Given the description of an element on the screen output the (x, y) to click on. 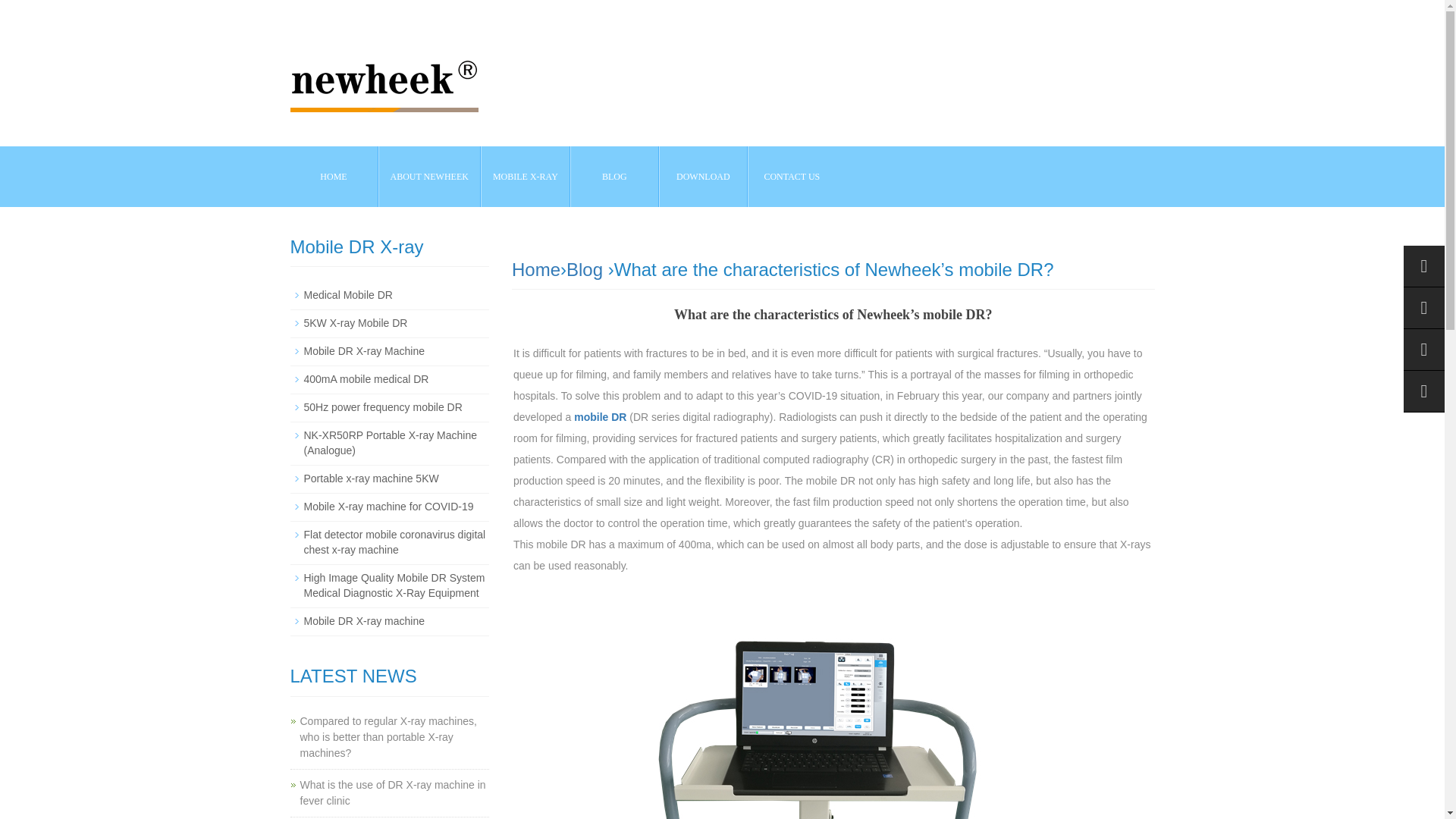
HOME (333, 176)
Portable x-ray machine 5KW (370, 478)
What is the use of DR X-ray machine in fever clinic (392, 792)
Back to Home page (536, 269)
Mobile DR X-ray Machine (363, 350)
Medical Mobile DR (346, 295)
5KW X-ray Mobile DR (354, 322)
mobile DR (600, 417)
DOWNLOAD (702, 176)
BLOG (614, 176)
Blog (584, 269)
CONTACT US (791, 176)
Home (536, 269)
ABOUT NEWHEEK (429, 176)
